Given the description of an element on the screen output the (x, y) to click on. 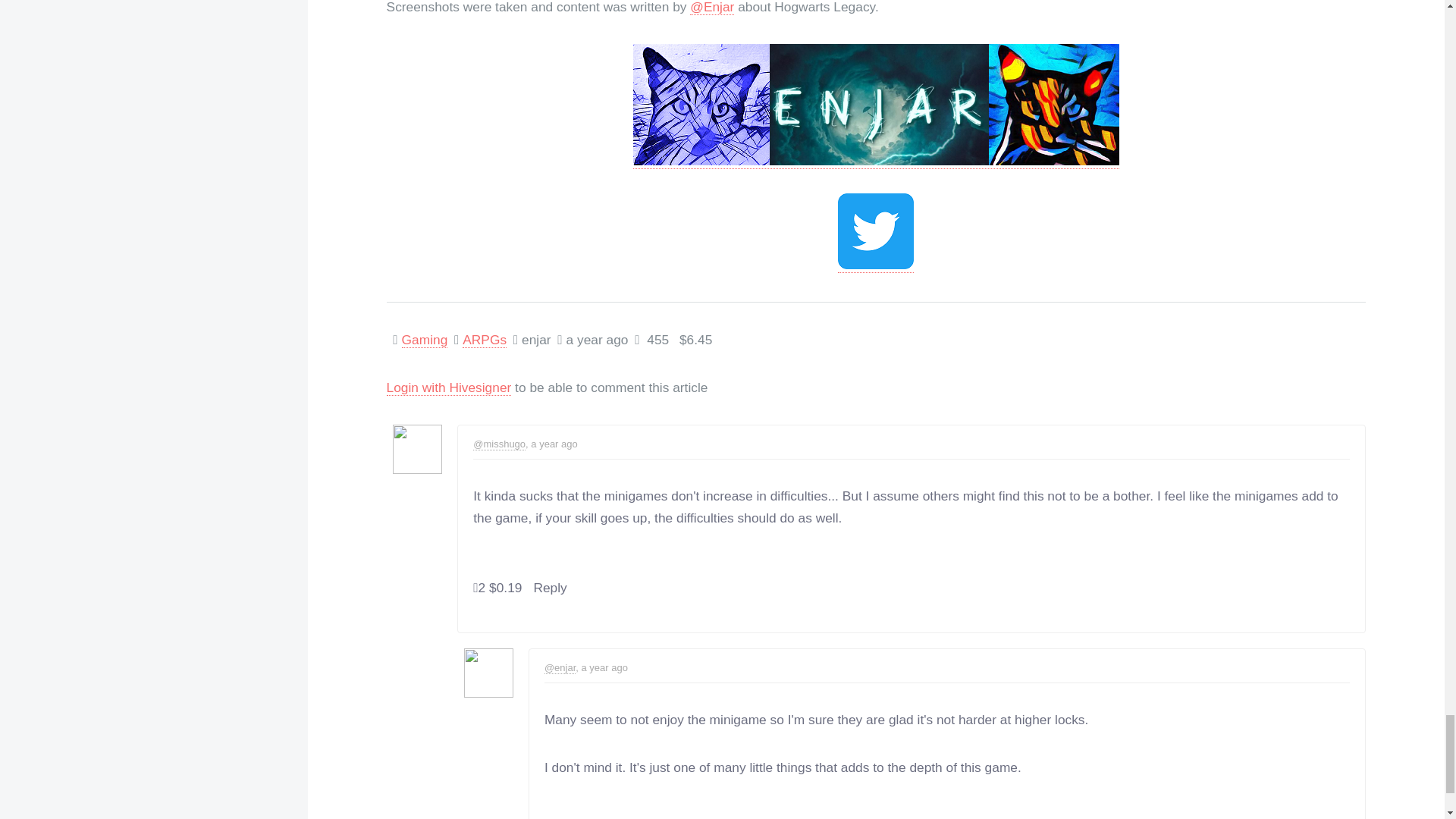
Login with Hivesigner (449, 387)
Gaming (424, 340)
06 March 2023, 11:40:33 (601, 667)
06 March 2023, 10:35:06 (551, 443)
March 6, 2023 1:10 AM (597, 339)
ARPGs (484, 340)
